Given the description of an element on the screen output the (x, y) to click on. 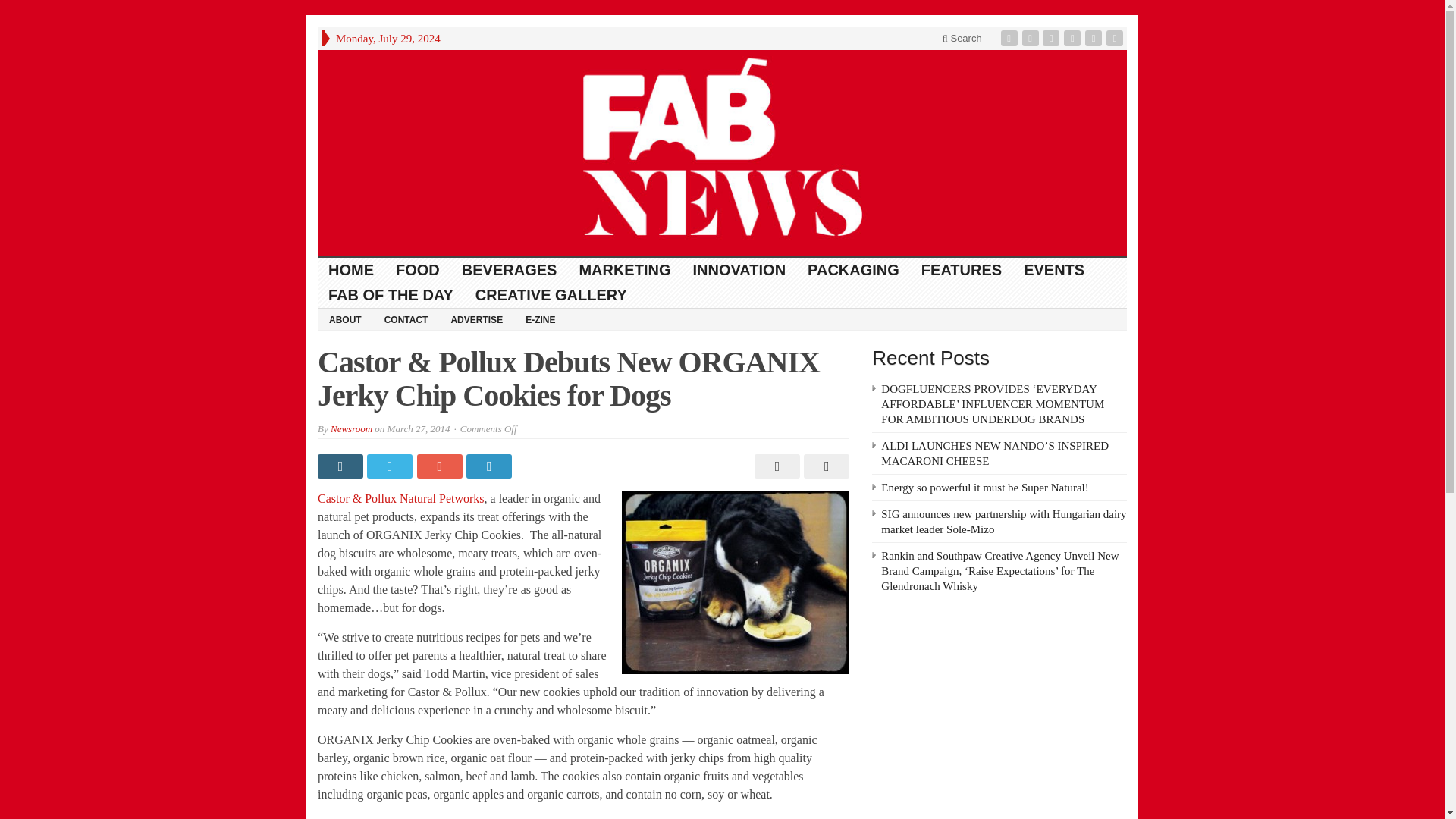
Share on LinkedIn (490, 466)
Energy so powerful it must be Super Natural! (983, 487)
Newsroom (351, 428)
Send by Email (823, 466)
CREATIVE GALLERY (551, 294)
Share on Facebook (341, 466)
FAB OF THE DAY (390, 294)
FEATURES (962, 269)
Youtube (1073, 37)
Share on Twitter (391, 466)
LinkedIn (1052, 37)
Search (962, 37)
INNOVATION (738, 269)
BEVERAGES (510, 269)
